Given the description of an element on the screen output the (x, y) to click on. 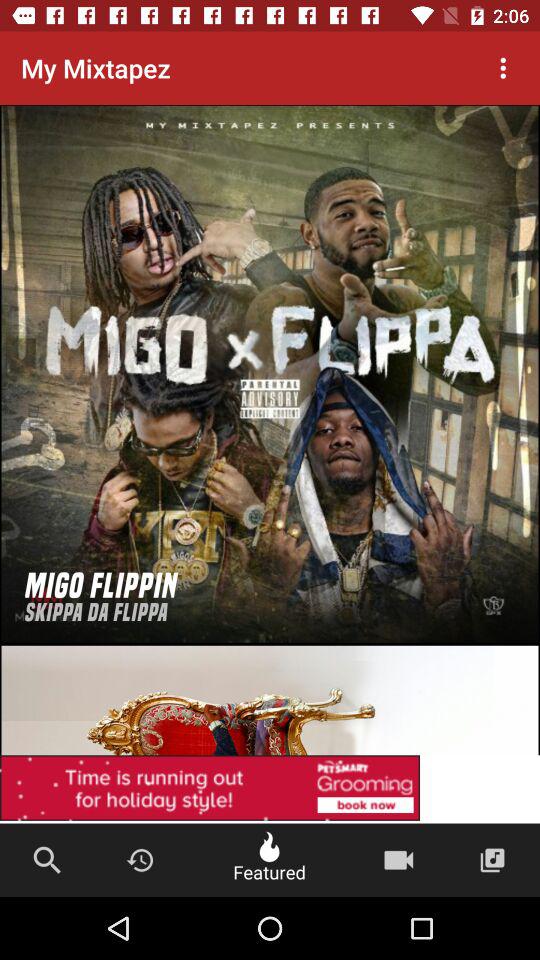
click to go to the petsmart website (269, 645)
